Given the description of an element on the screen output the (x, y) to click on. 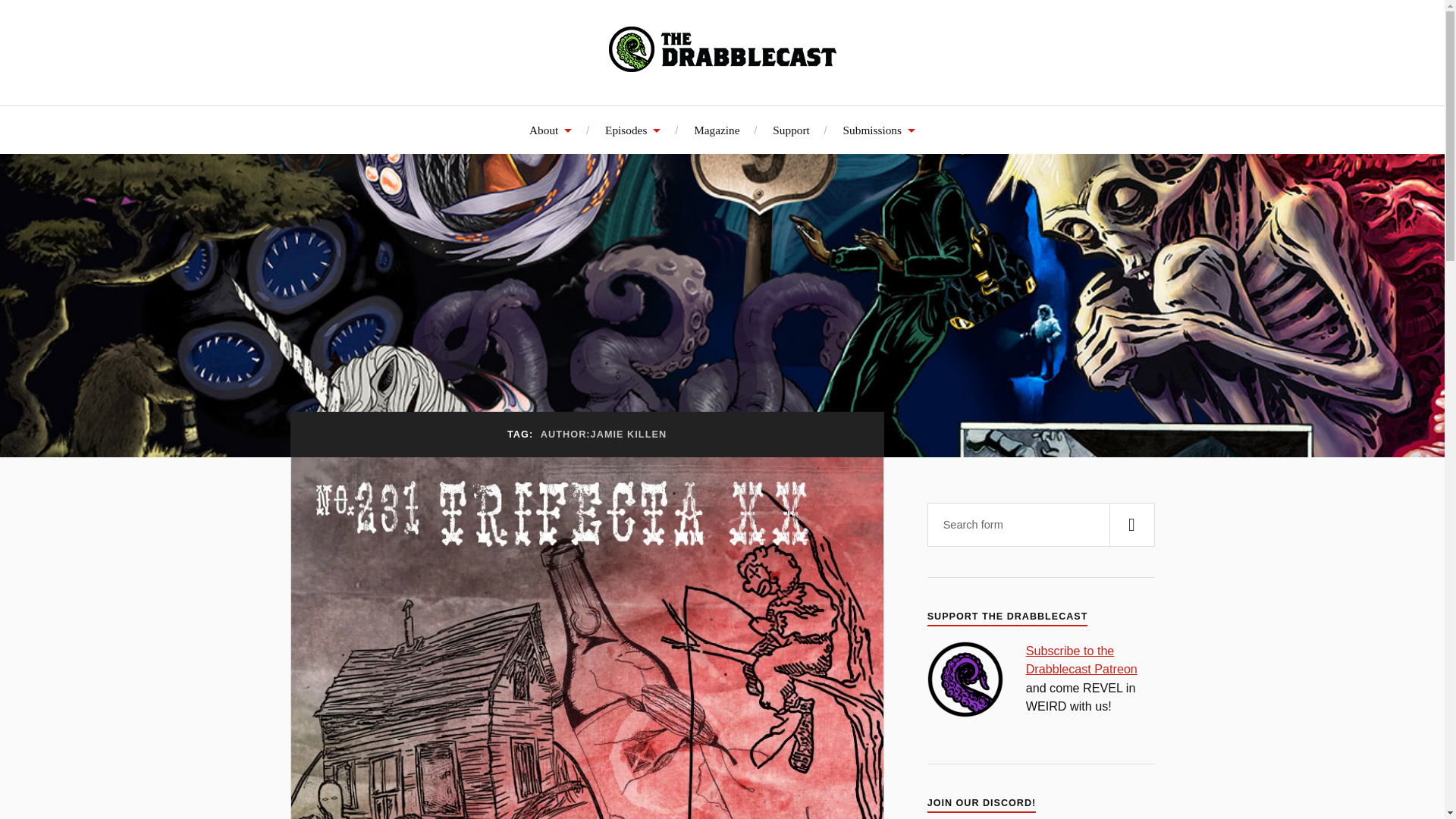
Episodes (633, 129)
About (550, 129)
Magazine (716, 129)
Submissions (879, 129)
